Given the description of an element on the screen output the (x, y) to click on. 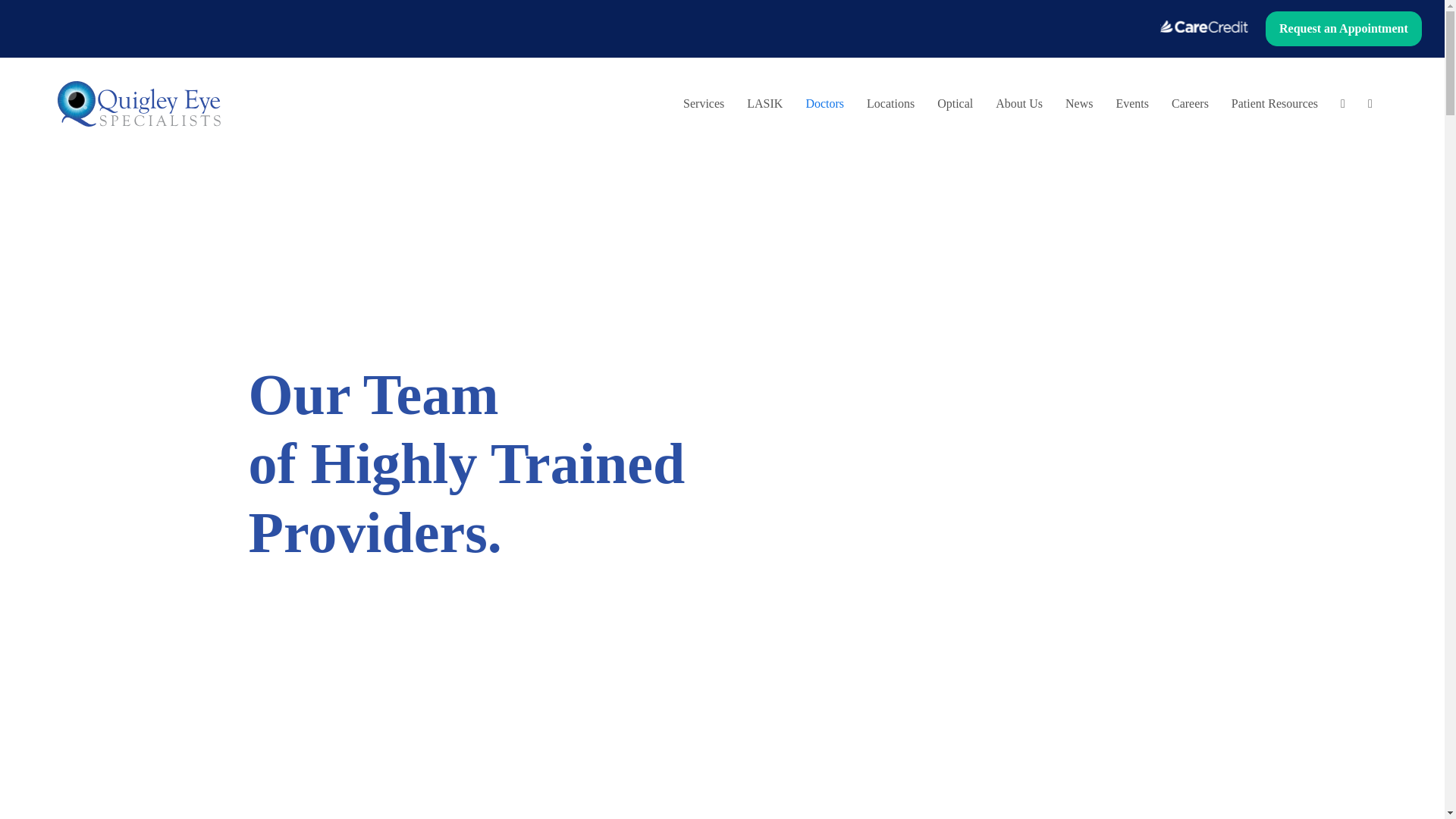
Doctors (824, 103)
Services (703, 103)
Optical (955, 103)
Request an Appointment (1343, 28)
LASIK (764, 103)
Locations (891, 103)
Request an Appointment (1343, 29)
